Given the description of an element on the screen output the (x, y) to click on. 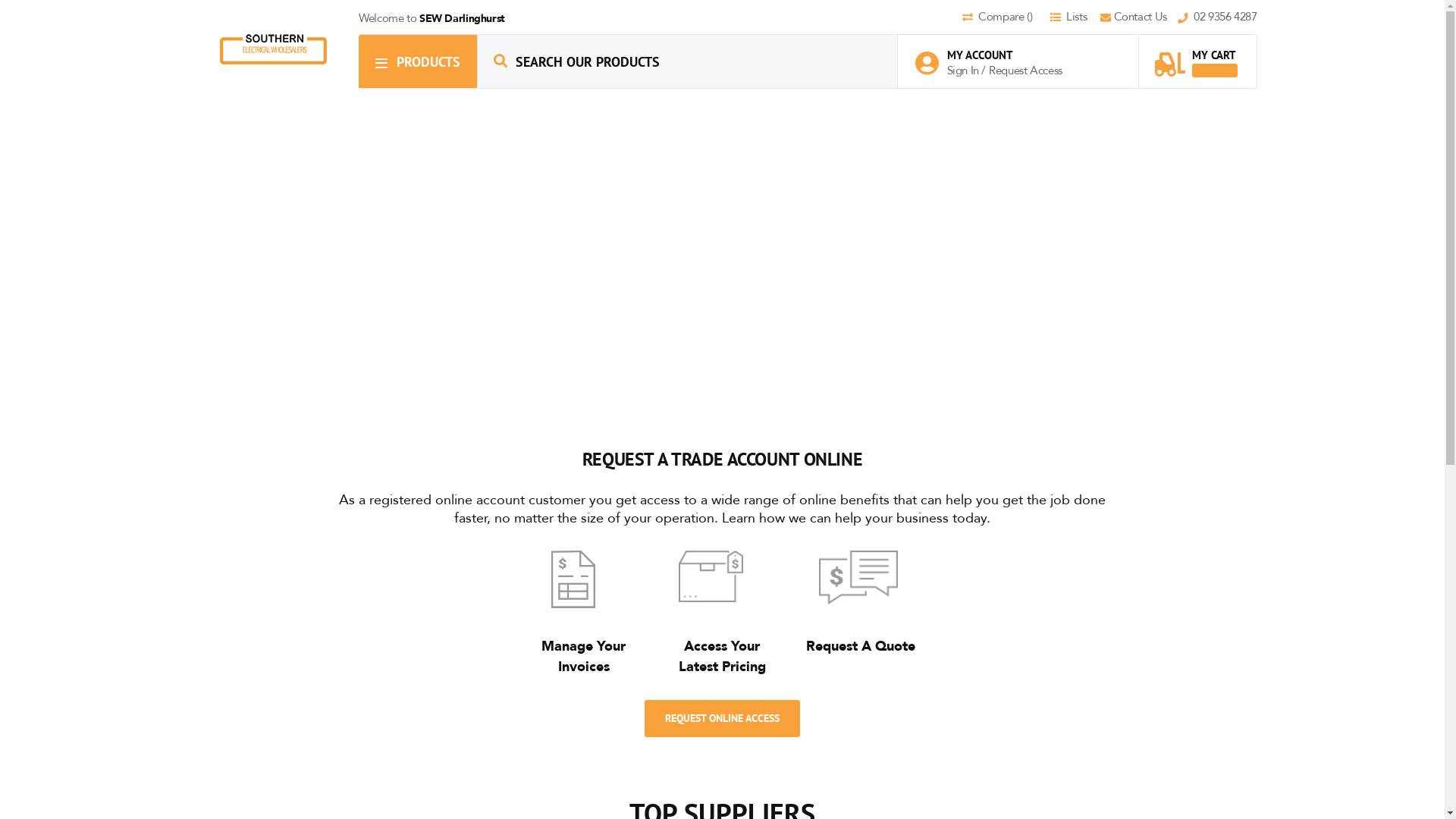
MY CART Element type: text (1195, 55)
Contact Us Element type: text (1138, 17)
MY ACCOUNT Element type: text (995, 54)
REQUEST ONLINE ACCESS Element type: text (722, 717)
Search Element type: text (500, 60)
02 9356 4287 Element type: text (1217, 17)
Sign In Element type: text (963, 70)
SEW Electrical Element type: hover (273, 48)
Compare Element type: text (1004, 17)
Request Access Element type: text (1025, 70)
SEW Electrical Element type: hover (272, 48)
Lists Element type: text (1073, 17)
